Given the description of an element on the screen output the (x, y) to click on. 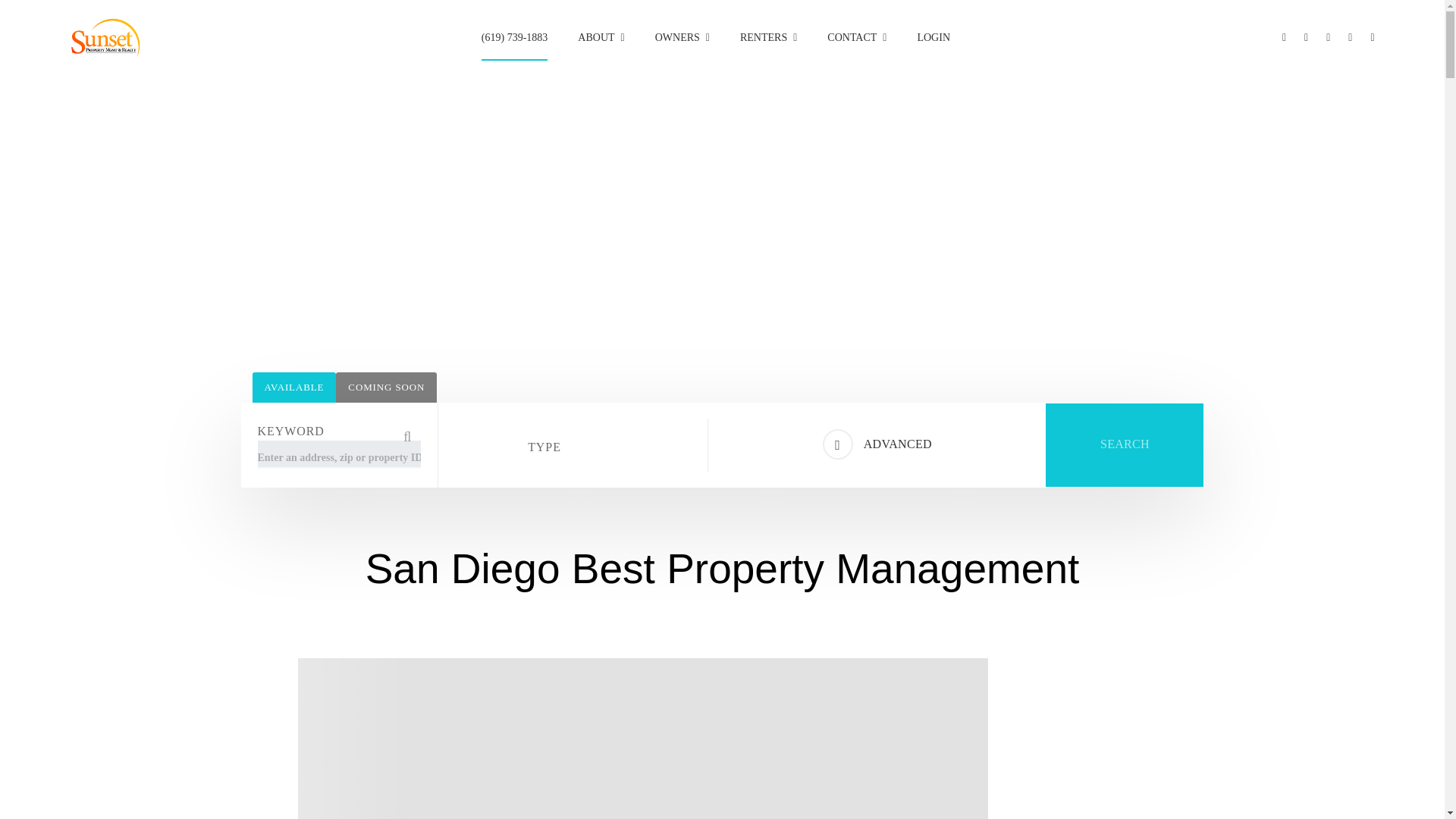
ADVANCED (876, 443)
SEARCH (1124, 443)
AVAILABLE (293, 387)
COMING SOON (386, 387)
